Given the description of an element on the screen output the (x, y) to click on. 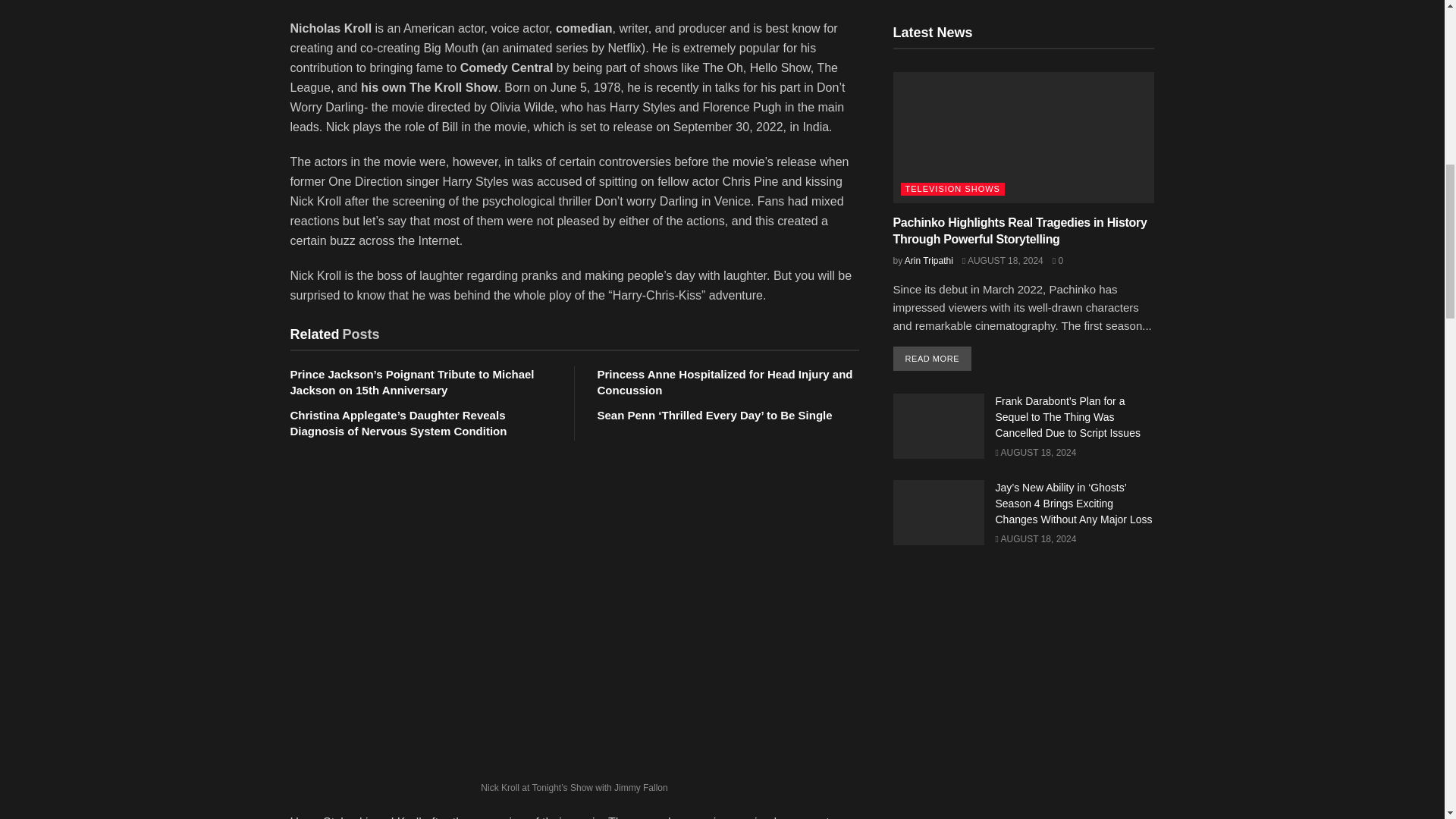
Arin Tripathi (928, 260)
Princess Anne Hospitalized for Head Injury and Concussion (724, 381)
TELEVISION SHOWS (952, 188)
